Given the description of an element on the screen output the (x, y) to click on. 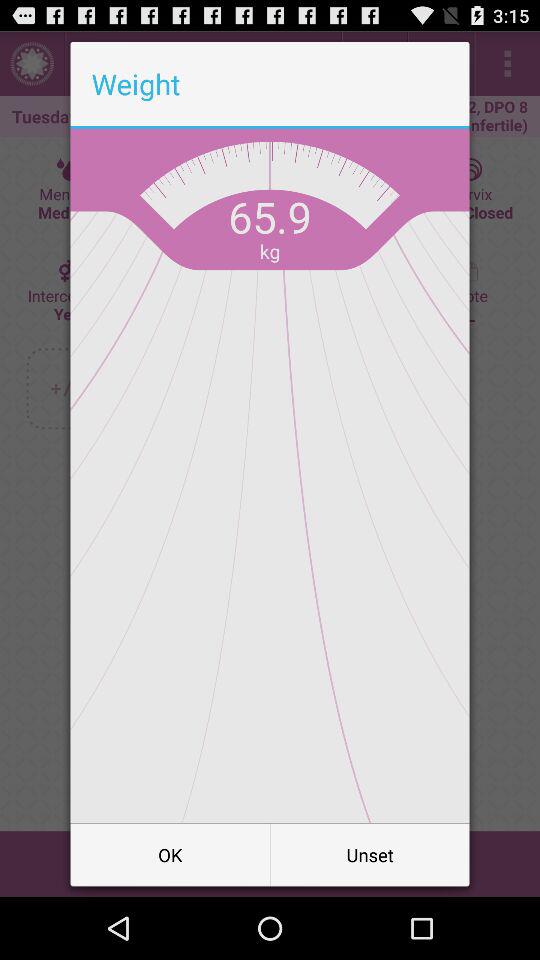
press ok item (170, 854)
